Given the description of an element on the screen output the (x, y) to click on. 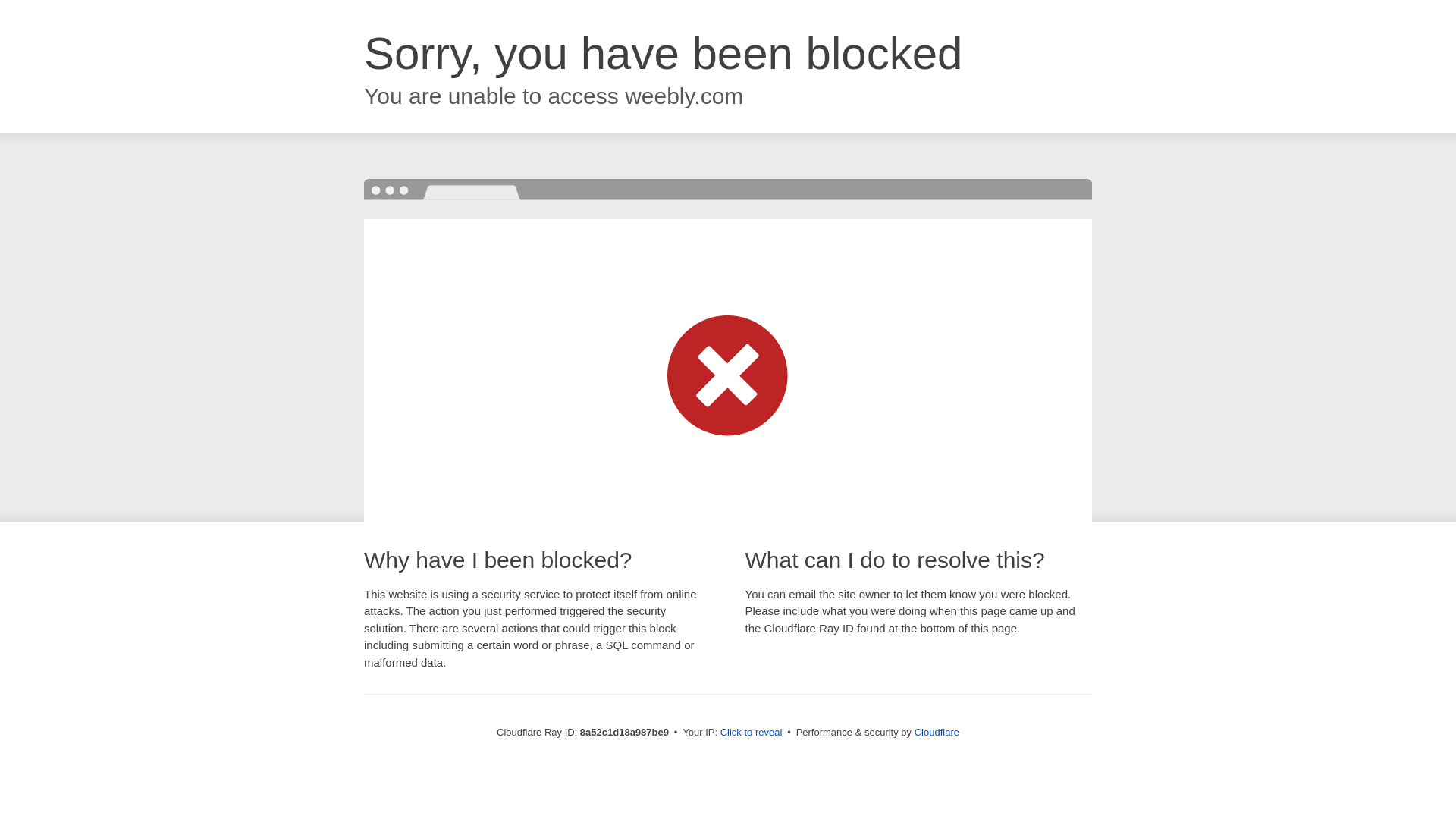
Click to reveal (751, 732)
Cloudflare (936, 731)
